Given the description of an element on the screen output the (x, y) to click on. 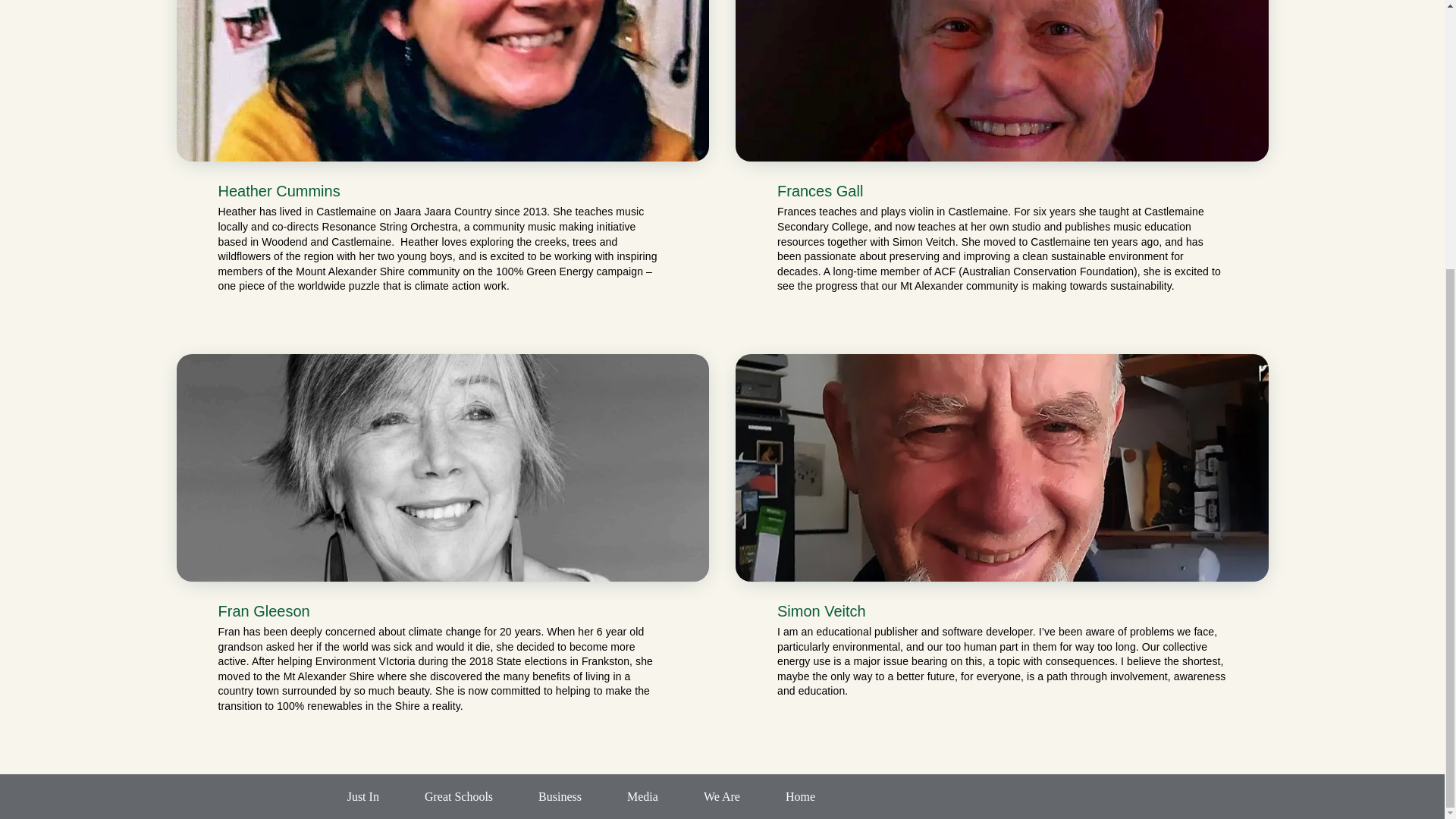
Business (559, 795)
Just In (362, 795)
Great Schools (459, 795)
Media (642, 795)
